Given the description of an element on the screen output the (x, y) to click on. 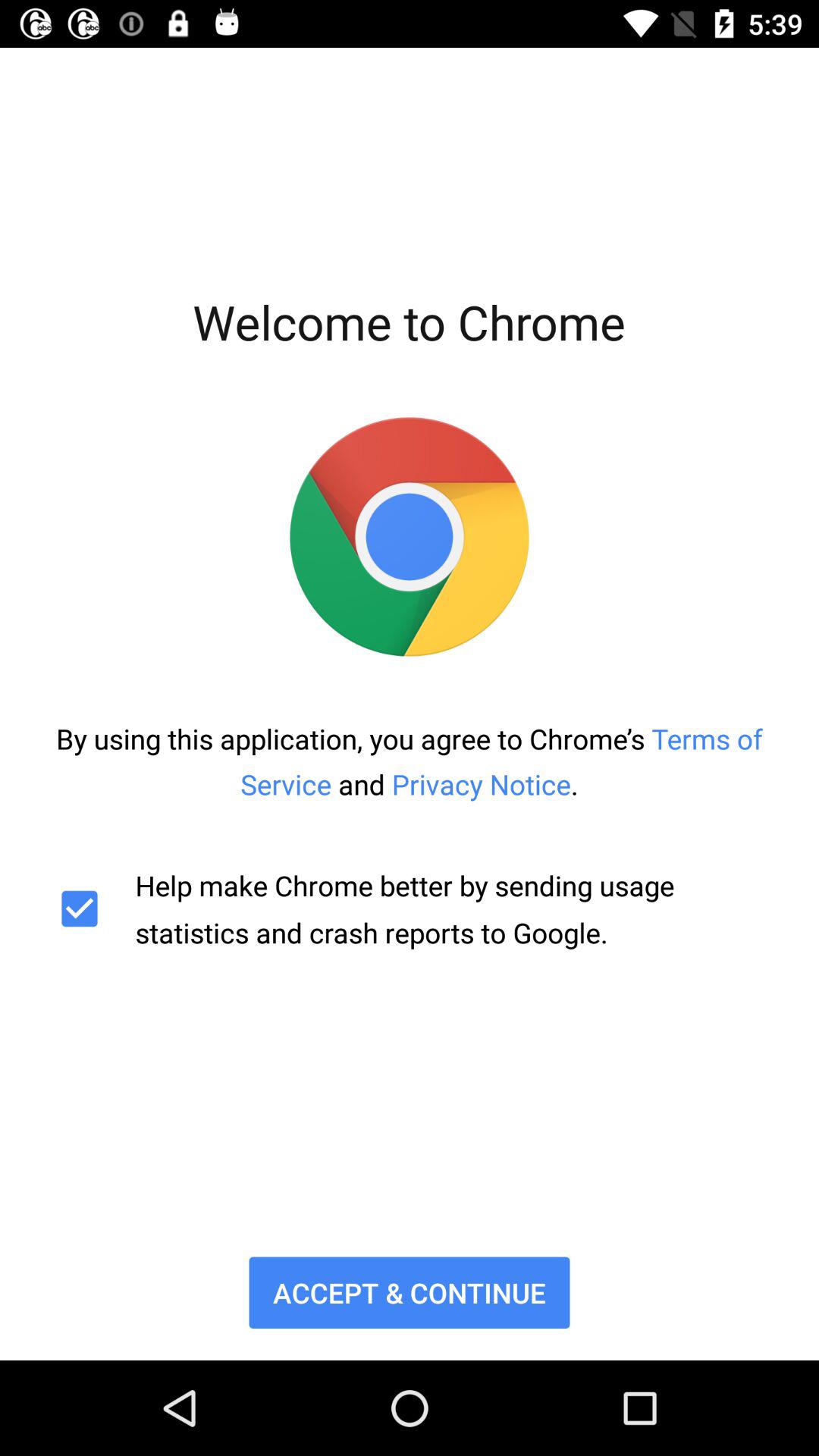
flip until the by using this icon (409, 761)
